Given the description of an element on the screen output the (x, y) to click on. 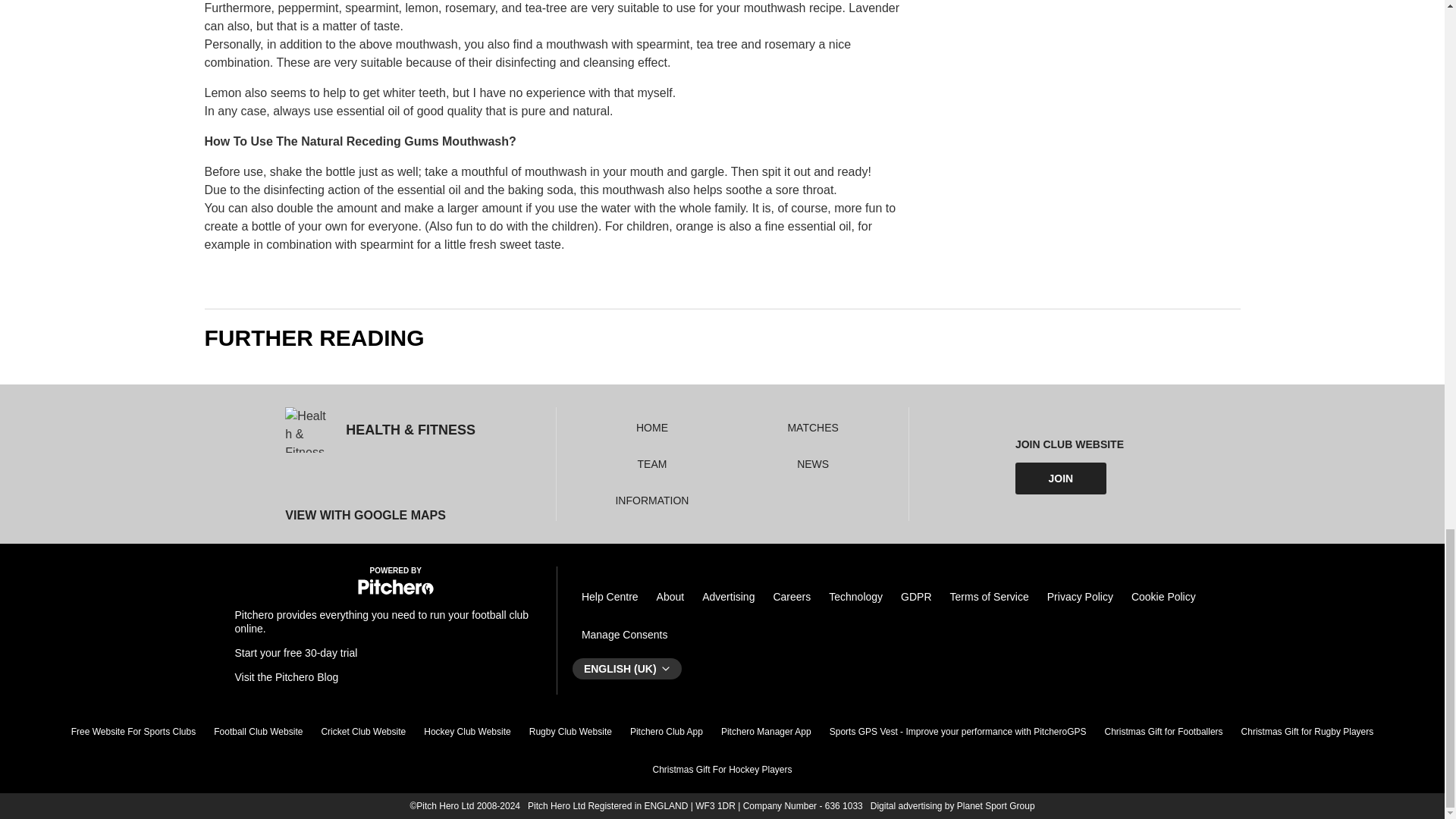
INFORMATION (651, 499)
NEWS (812, 463)
VIEW WITH GOOGLE MAPS (380, 515)
MATCHES (812, 427)
HOME (652, 427)
TEAM (651, 463)
Pitchero (395, 590)
